Given the description of an element on the screen output the (x, y) to click on. 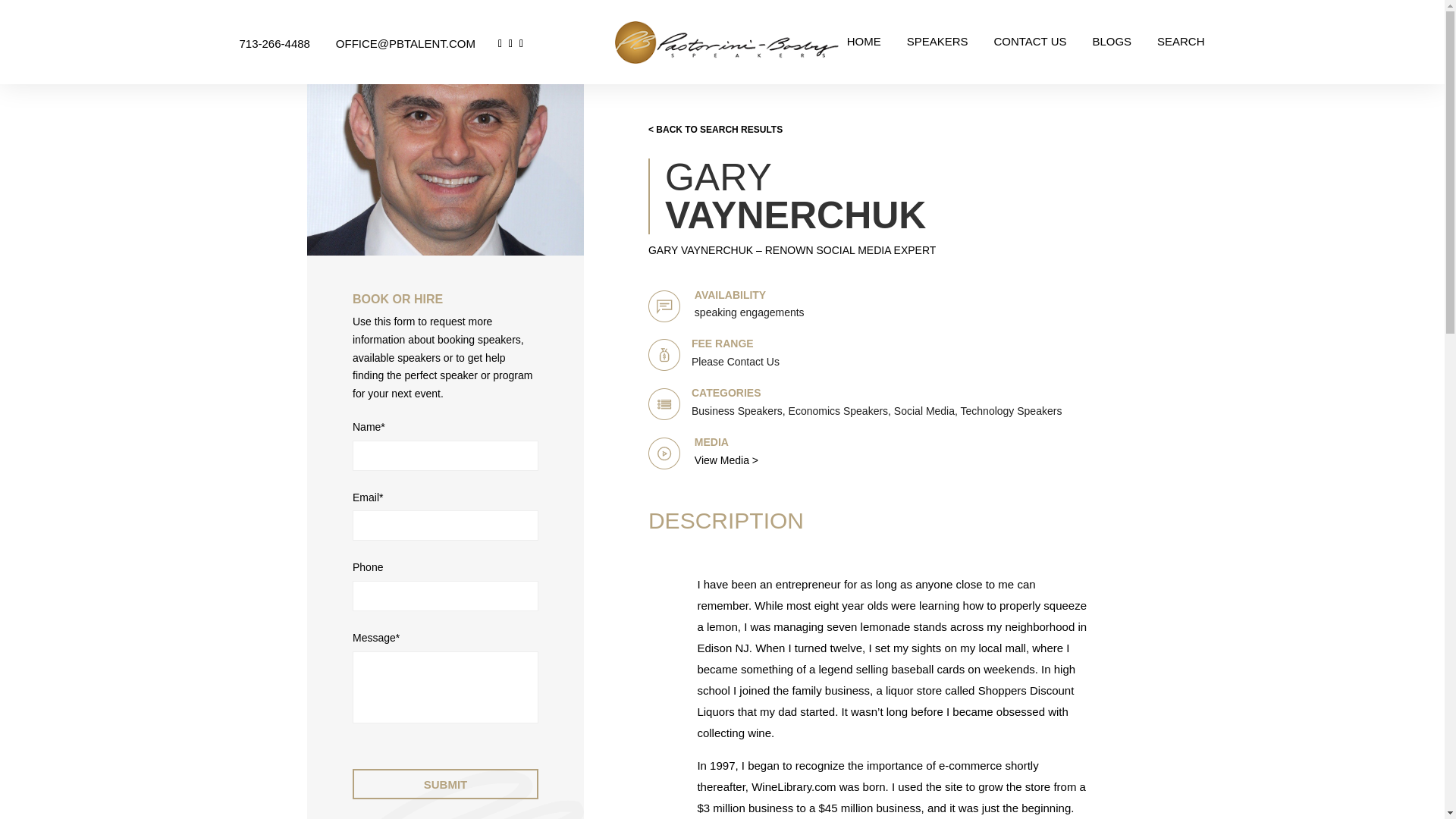
SPEAKERS (937, 48)
SEARCH (1181, 48)
CONTACT US (1028, 48)
Submit (445, 784)
713-266-4488 (286, 42)
